Given the description of an element on the screen output the (x, y) to click on. 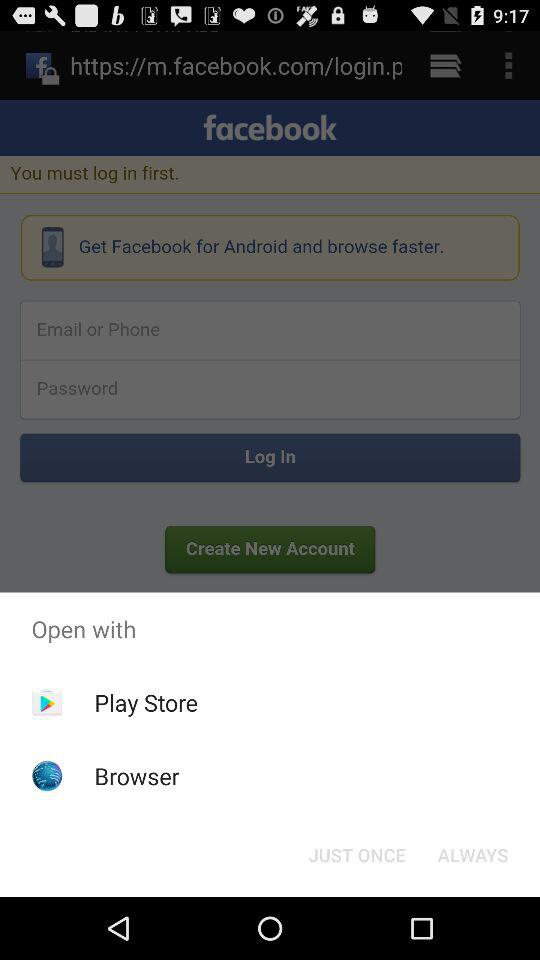
tap always button (472, 854)
